Given the description of an element on the screen output the (x, y) to click on. 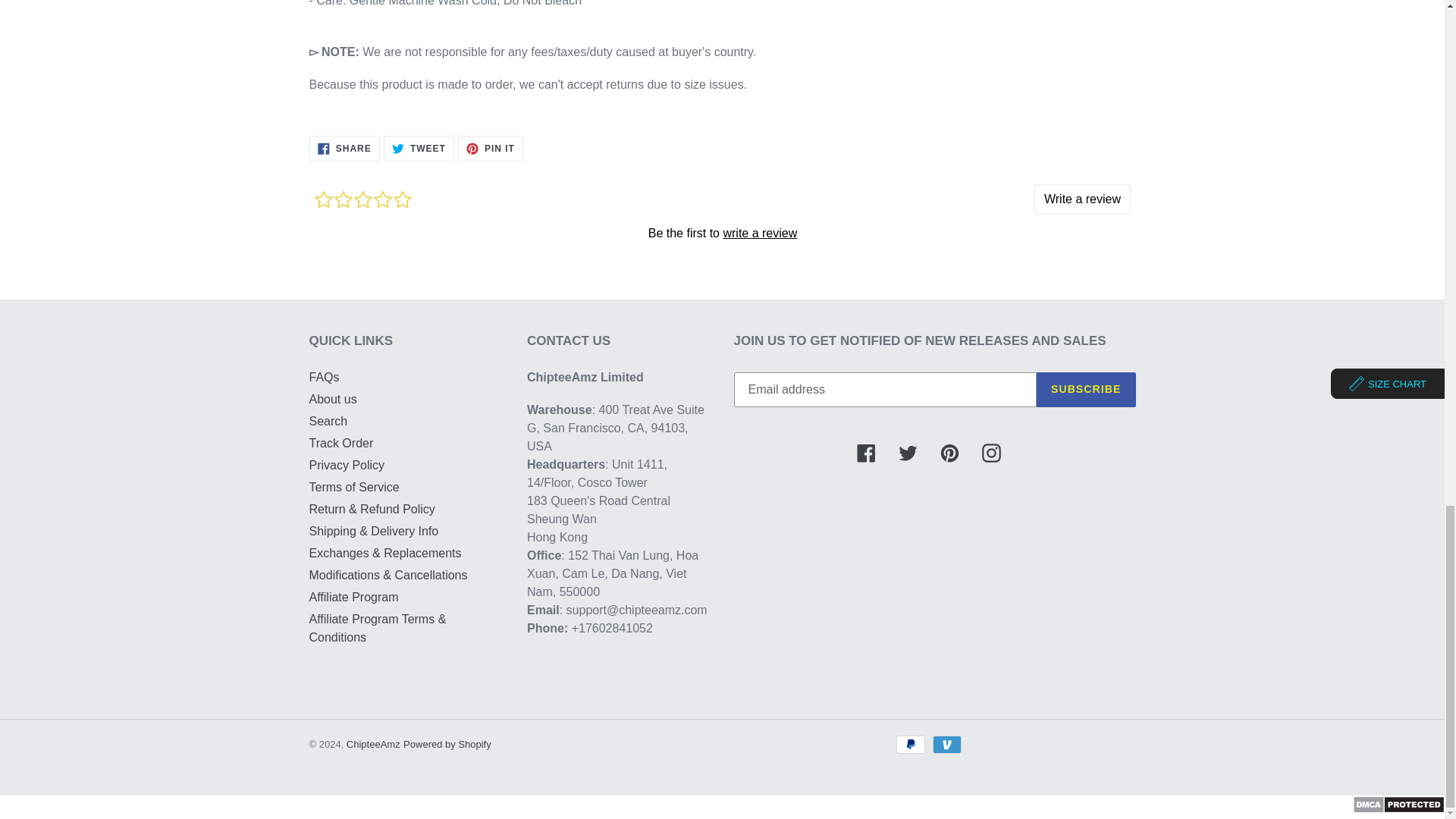
Product reviews widget (721, 212)
